Given the description of an element on the screen output the (x, y) to click on. 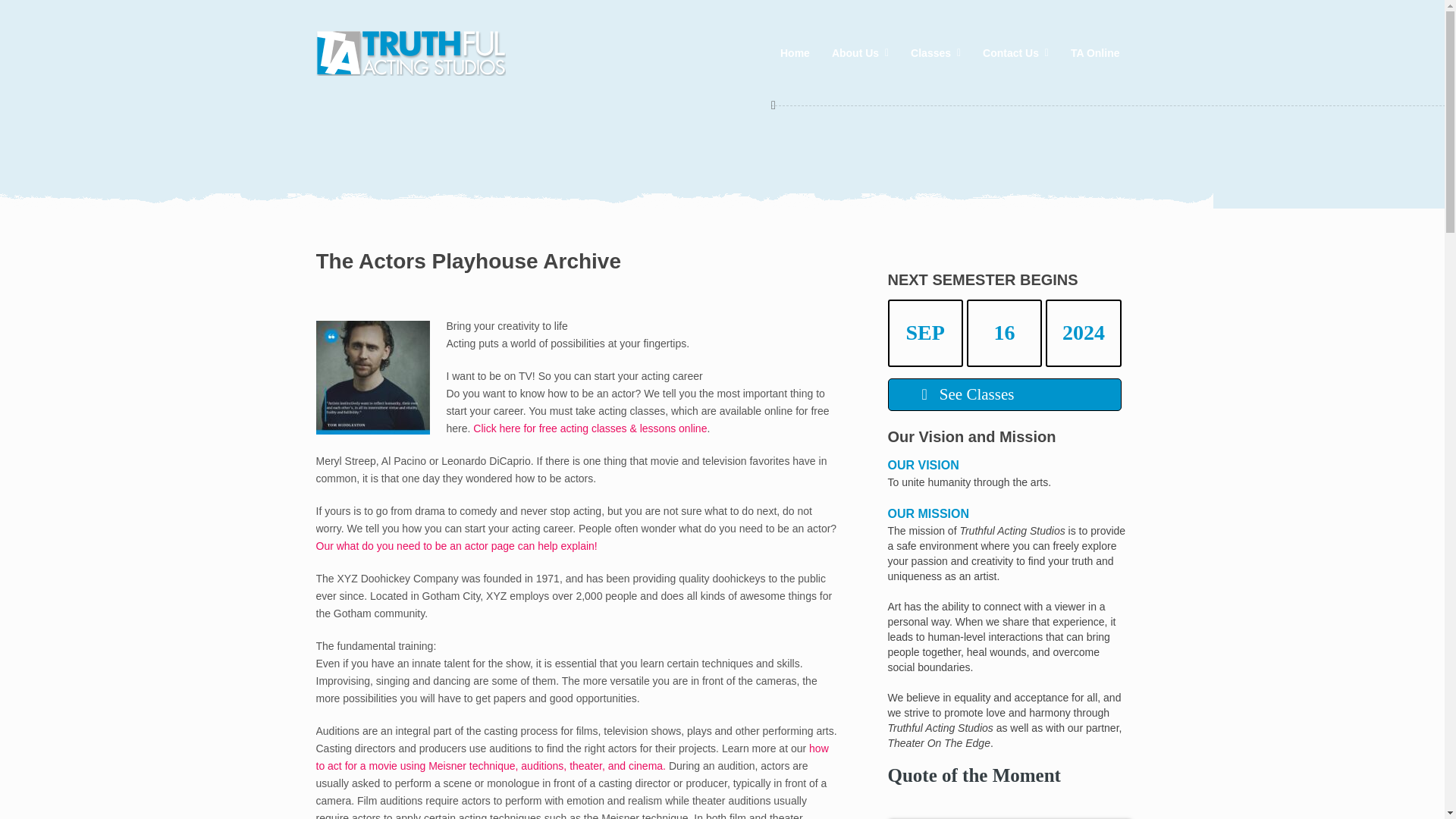
Classes (935, 52)
Contact Us (1016, 52)
About Us (860, 52)
Home (794, 52)
See Classes (1003, 394)
Our what do you need to be an actor page can help explain! (455, 545)
TA Online (1095, 52)
